Given the description of an element on the screen output the (x, y) to click on. 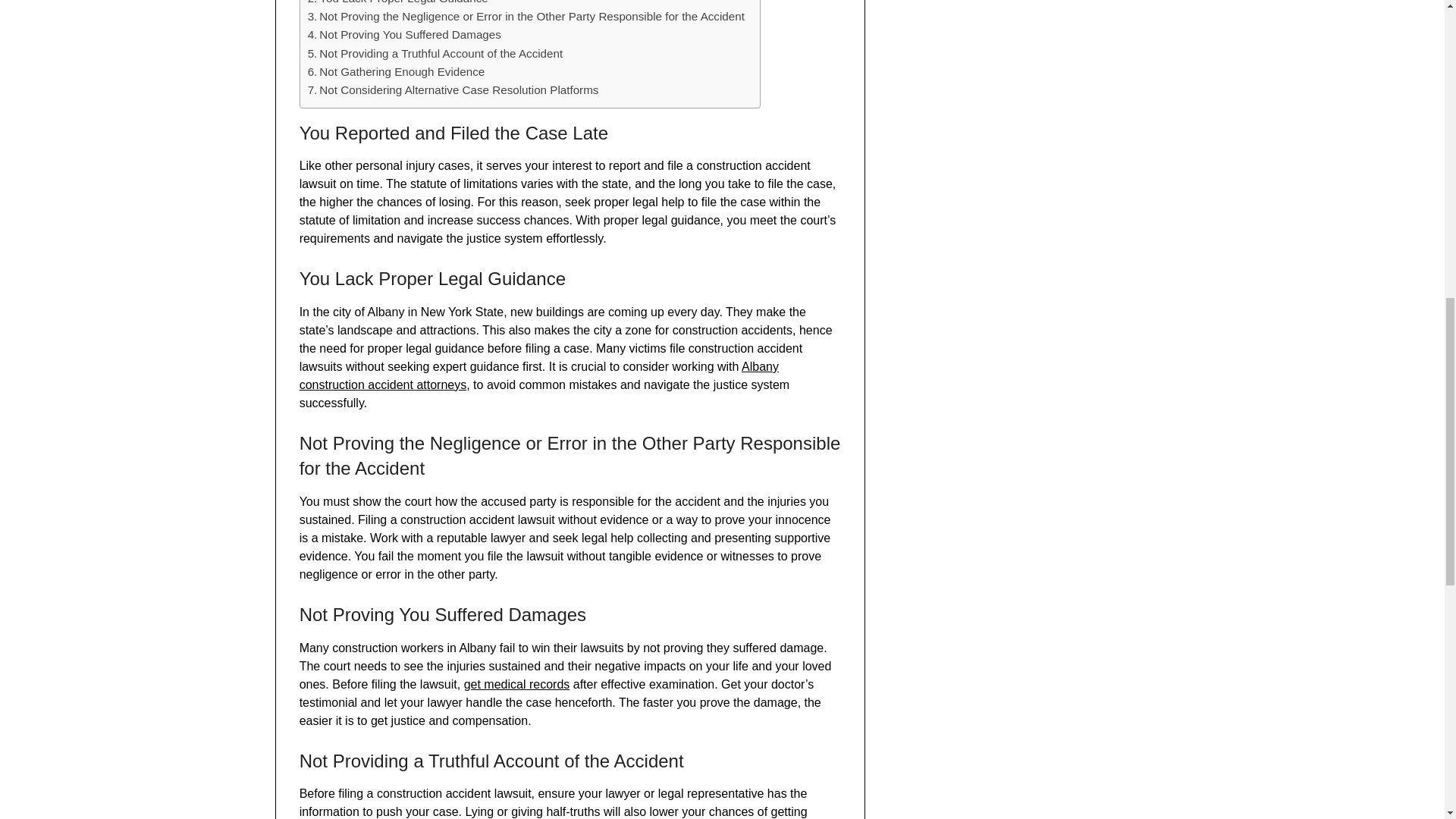
Not Considering Alternative Case Resolution Platforms (452, 90)
Not Considering Alternative Case Resolution Platforms (452, 90)
Albany construction accident attorneys (538, 375)
Not Gathering Enough Evidence (395, 72)
Not Providing a Truthful Account of the Accident (435, 54)
You Lack Proper Legal Guidance (397, 3)
Not Proving You Suffered Damages (403, 34)
get medical records (517, 684)
Not Gathering Enough Evidence (395, 72)
Not Providing a Truthful Account of the Accident (435, 54)
You Lack Proper Legal Guidance (397, 3)
Not Proving You Suffered Damages (403, 34)
